Given the description of an element on the screen output the (x, y) to click on. 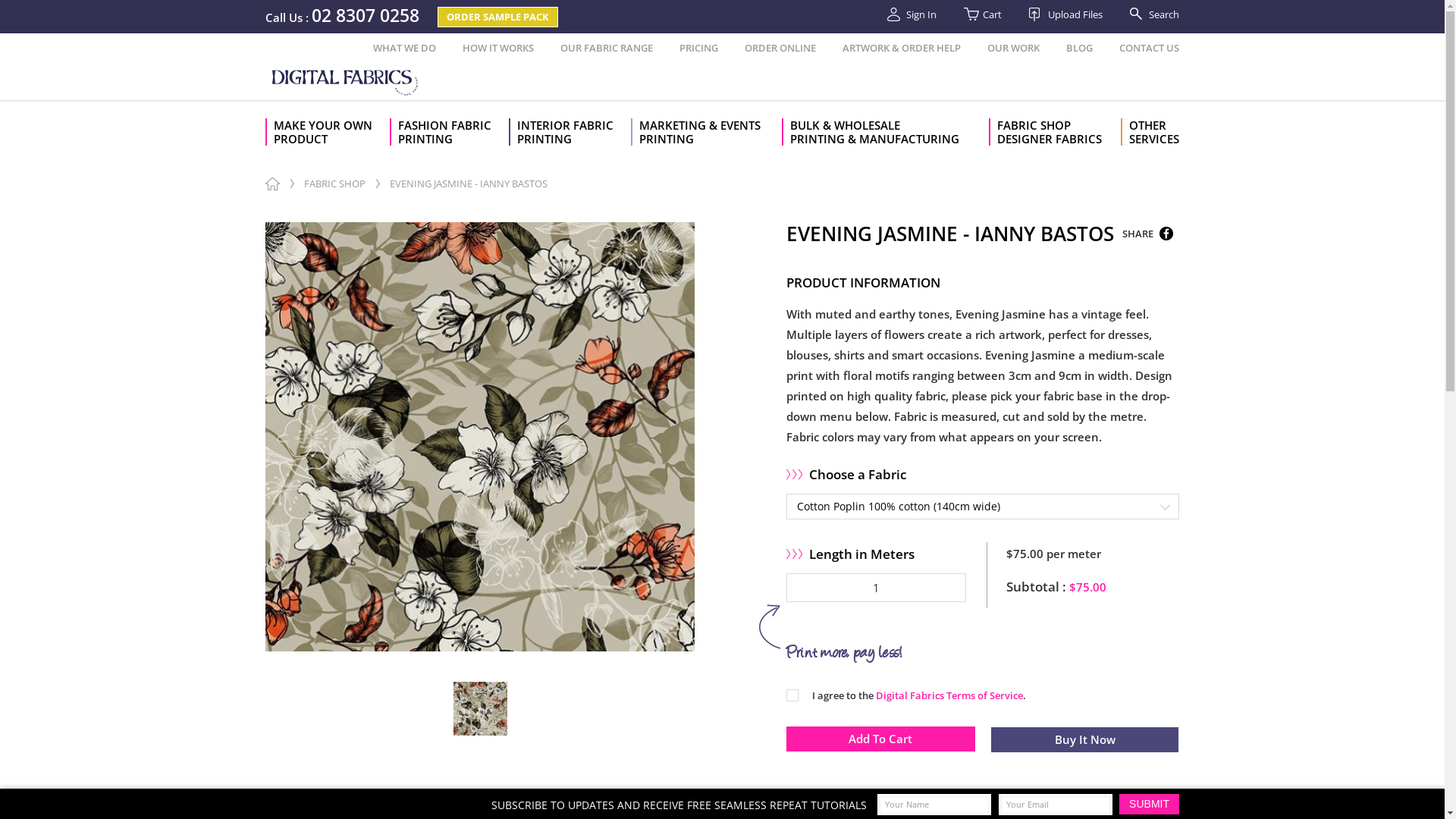
FASHION FABRIC
PRINTING Element type: text (448, 131)
Submit Element type: text (1149, 803)
ORDER SAMPLE PACK Element type: text (497, 16)
Add To Cart Element type: text (880, 738)
Search Element type: text (1147, 14)
MARKETING & EVENTS
PRINTING Element type: text (705, 131)
MAKE YOUR OWN
PRODUCT Element type: text (327, 131)
Digital Fabrics Element type: text (346, 81)
HOME Element type: text (272, 183)
Share Element type: text (1166, 233)
Digital Fabrics Terms of Service Element type: text (948, 695)
02 8307 0258 Element type: text (365, 17)
OTHER
SERVICES Element type: text (1149, 131)
INTERIOR FABRIC
PRINTING Element type: text (569, 131)
HOW IT WORKS Element type: text (497, 47)
BLOG Element type: text (1079, 47)
Cart Element type: text (982, 14)
ARTWORK & ORDER HELP Element type: text (901, 47)
BULK & WHOLESALE
PRINTING & MANUFACTURING Element type: text (884, 131)
WHAT WE DO Element type: text (404, 47)
OUR WORK Element type: text (1013, 47)
PRICING Element type: text (698, 47)
ORDER ONLINE Element type: text (779, 47)
OUR FABRIC RANGE Element type: text (606, 47)
Sign In Element type: text (911, 14)
FABRIC SHOP Element type: text (334, 183)
Upload Files Element type: text (1065, 14)
CONTACT US Element type: text (1149, 47)
FABRIC SHOP
DESIGNER FABRICS Element type: text (1054, 131)
Buy It Now Element type: text (1084, 739)
